Given the description of an element on the screen output the (x, y) to click on. 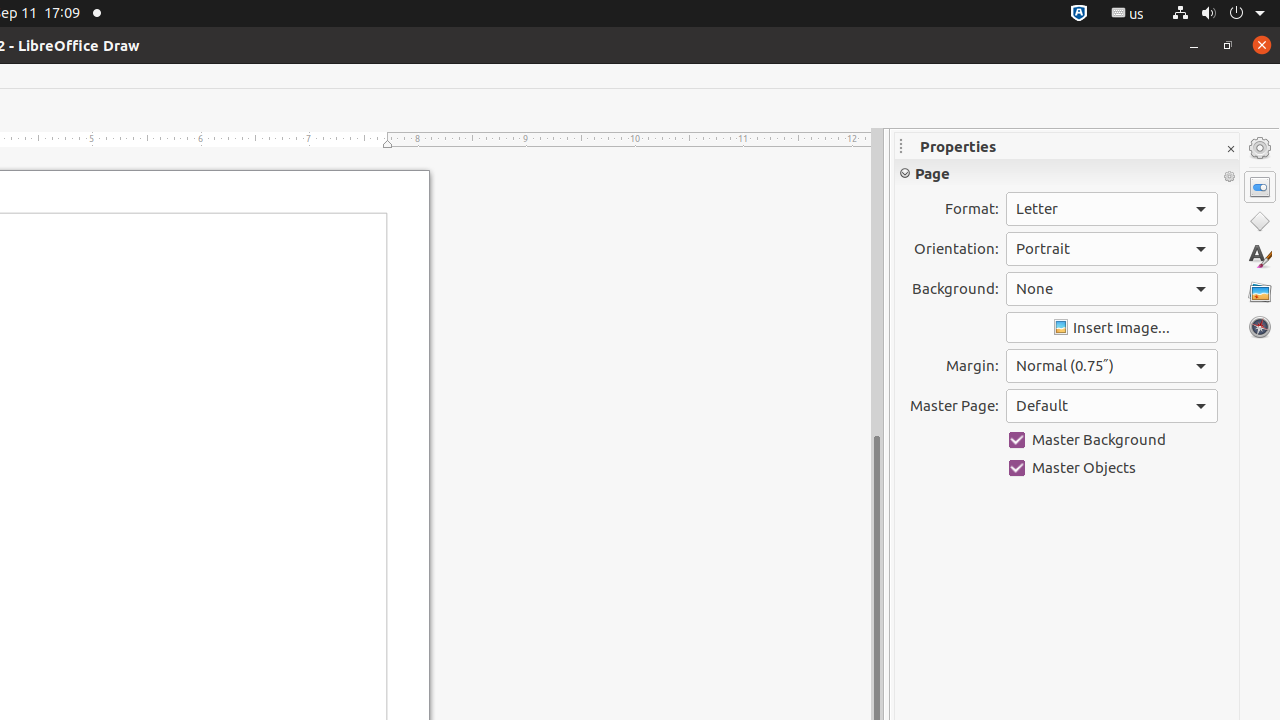
System Element type: menu (1218, 13)
Margin: Element type: combo-box (1112, 366)
Shapes Element type: radio-button (1260, 222)
Master Background Element type: check-box (1112, 440)
Close Sidebar Deck Element type: push-button (1230, 149)
